Given the description of an element on the screen output the (x, y) to click on. 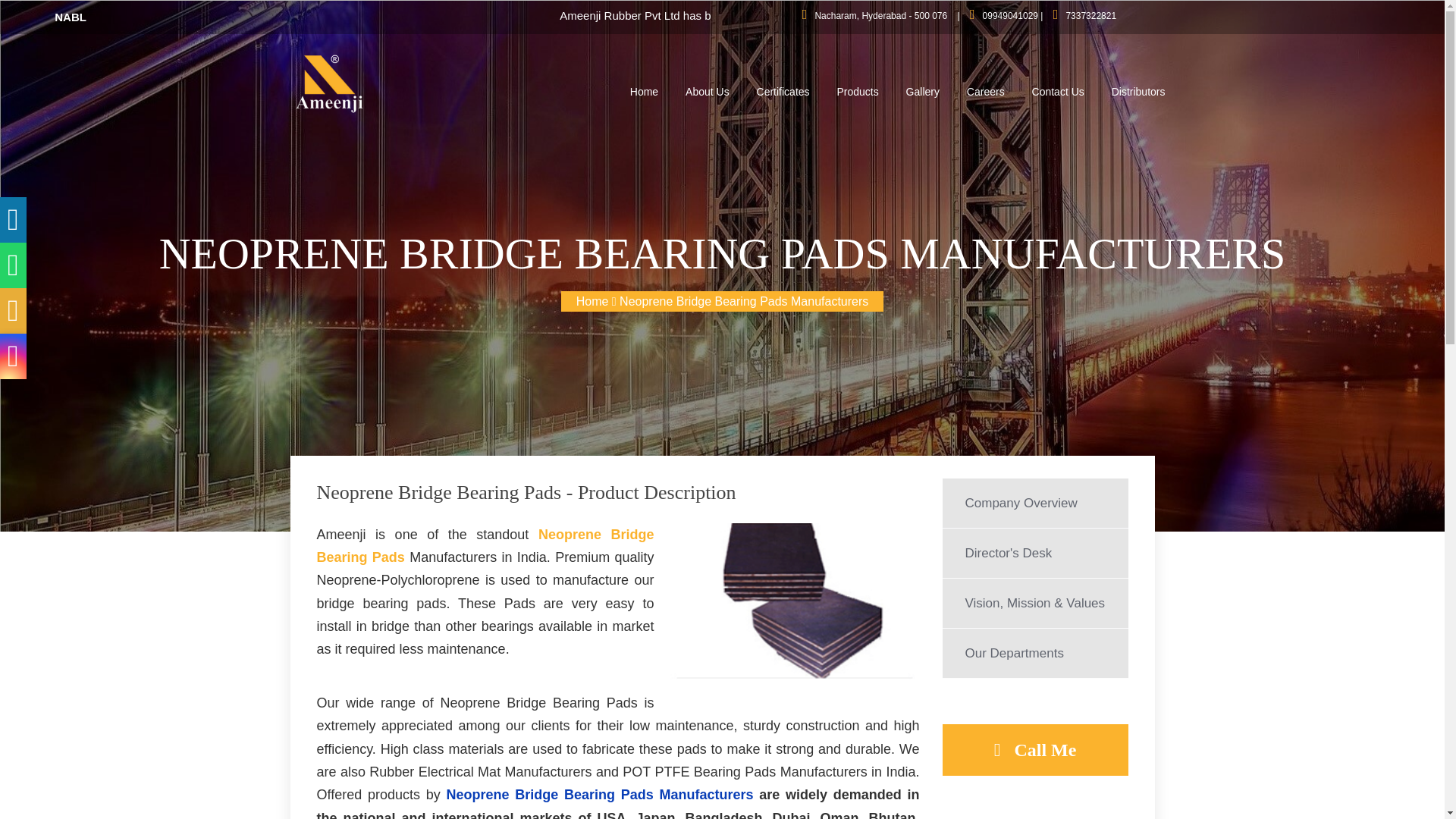
09949041029 (1010, 15)
Products (856, 92)
About Us (706, 92)
Home (643, 92)
Neoprene Bridge Bearing Pads Manufacturers in India (793, 601)
Certificates (783, 92)
Welcome to Ameenji Rubber Pvt. Ltd. (327, 83)
7337322821 (1090, 15)
